Given the description of an element on the screen output the (x, y) to click on. 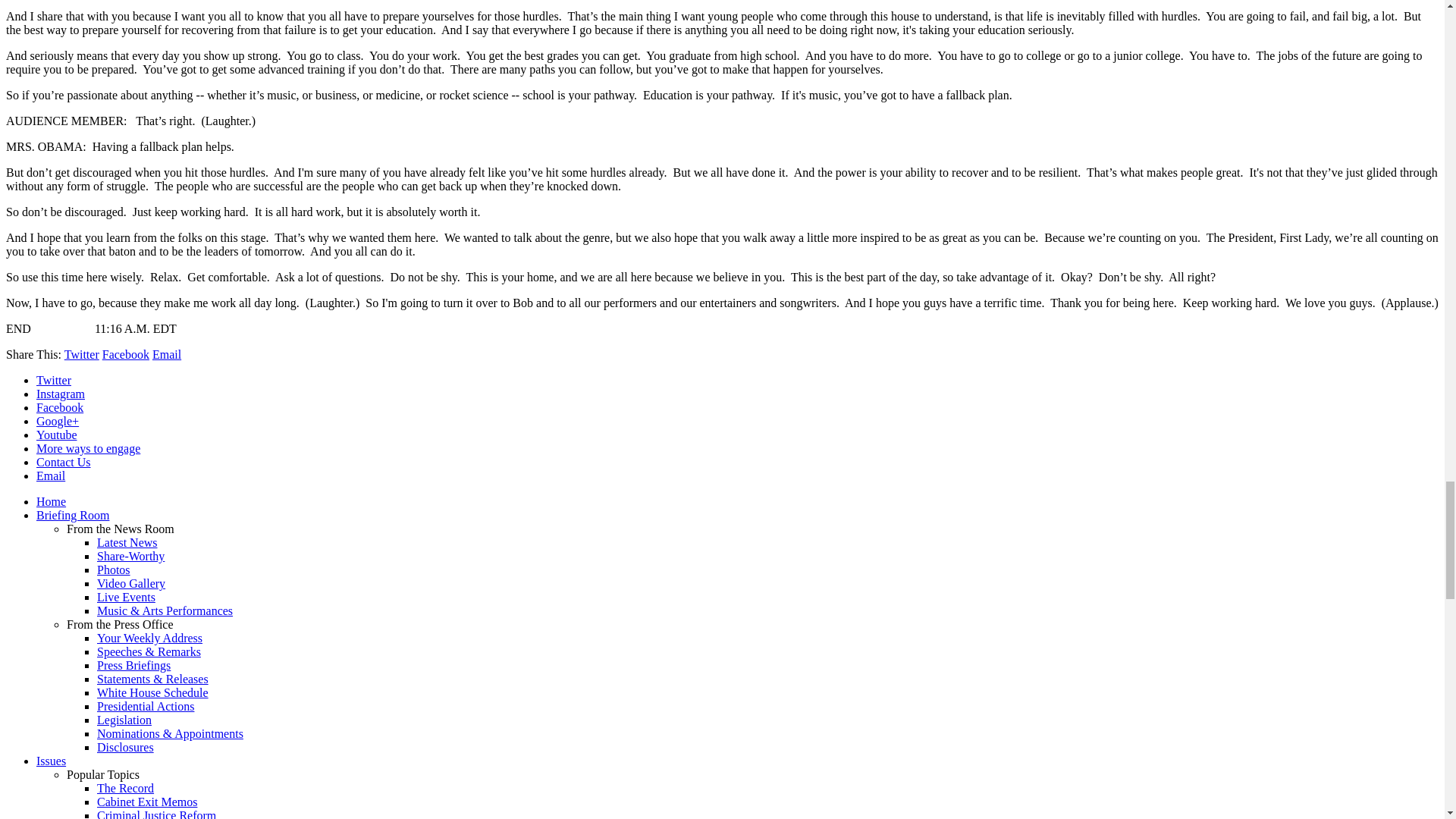
Email the Whitehouse. (50, 475)
Visit The Whitehouse Channel on Youtube. (56, 434)
Twitter (81, 354)
Read the latest blog posts from 1600 Pennsylvania Ave (127, 542)
Follow the Whitehouse on Twitter. (53, 379)
More ways to engage with the Whitehouse. (87, 448)
Like the Whitehouse on Facebook. (59, 407)
Contact the Whitehouse. (63, 461)
Facebook (125, 354)
Email (166, 354)
